Given the description of an element on the screen output the (x, y) to click on. 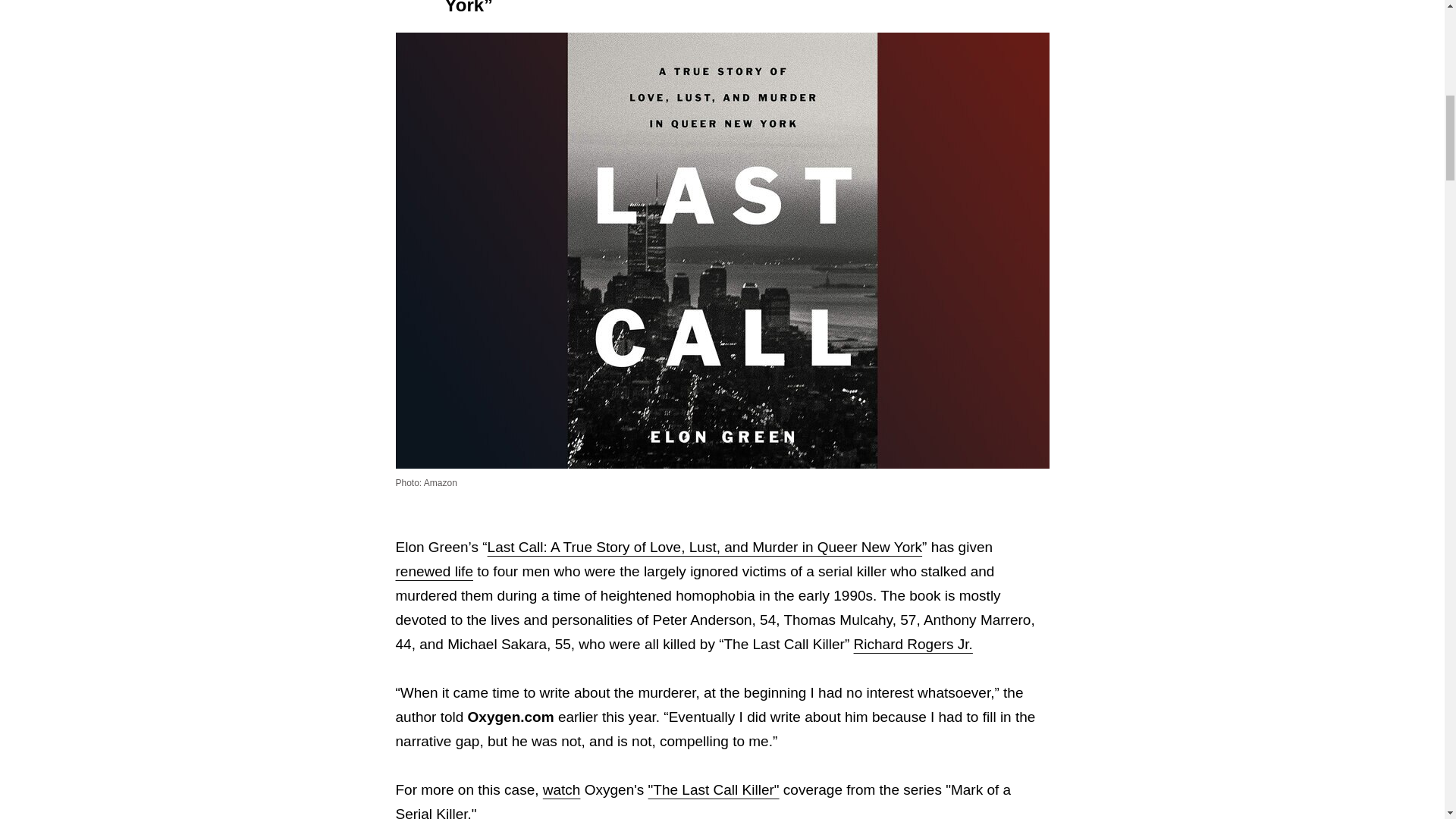
Richard Rogers Jr. (912, 643)
"The Last Call Killer" (712, 789)
renewed life (434, 571)
watch (561, 789)
